Given the description of an element on the screen output the (x, y) to click on. 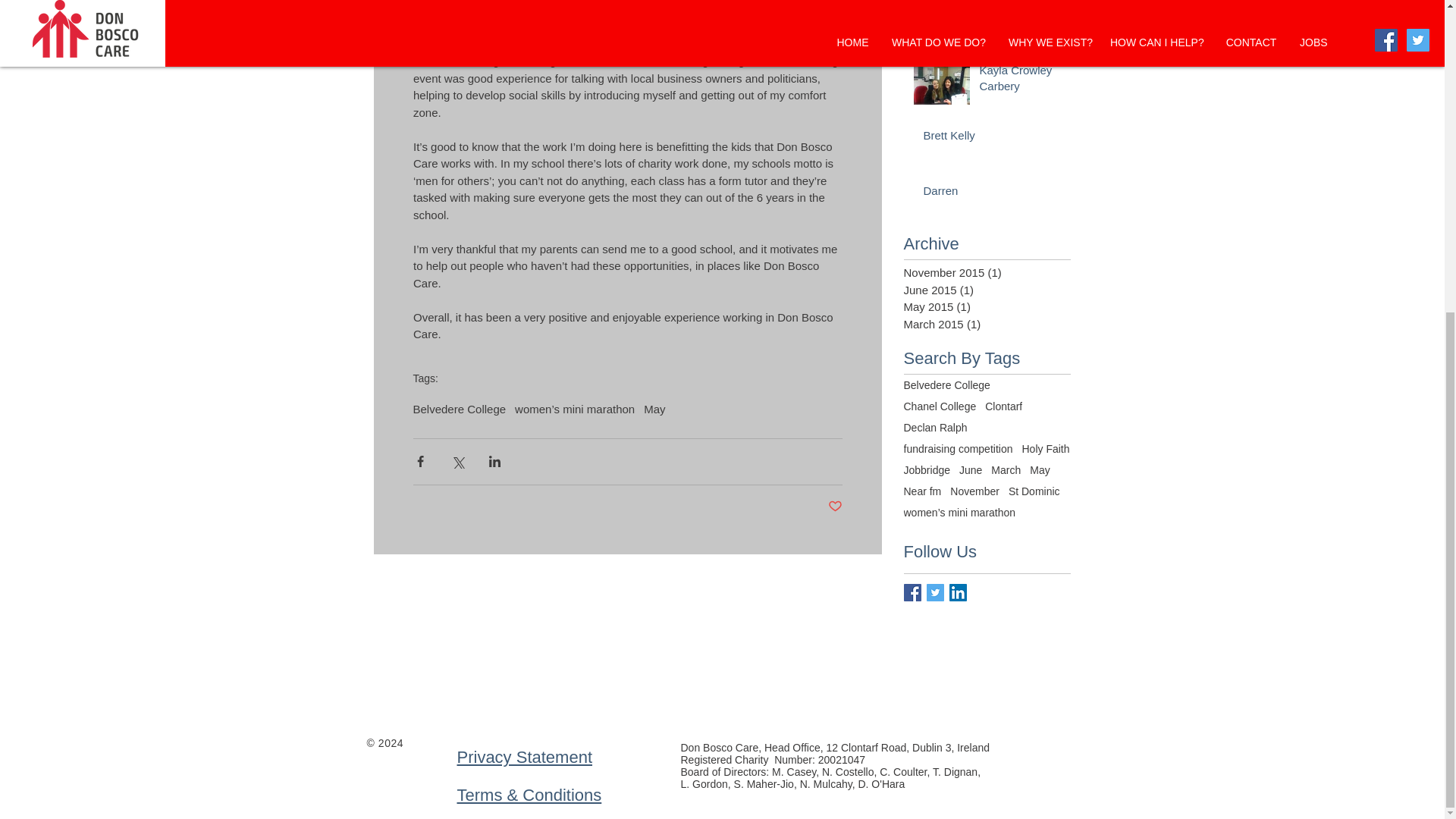
May (654, 408)
Clontarf (1003, 406)
Kayla Crowley Carbery (1020, 80)
Holy Faith (1045, 449)
Post not marked as liked (835, 506)
Declan Ralph (936, 427)
Belvedere College (458, 408)
Darren (992, 193)
Ellen, Laura, Emer, Niamh (992, 17)
Chanel College (940, 406)
fundraising competition (958, 449)
Brett Kelly (992, 138)
Belvedere College (947, 385)
